Given the description of an element on the screen output the (x, y) to click on. 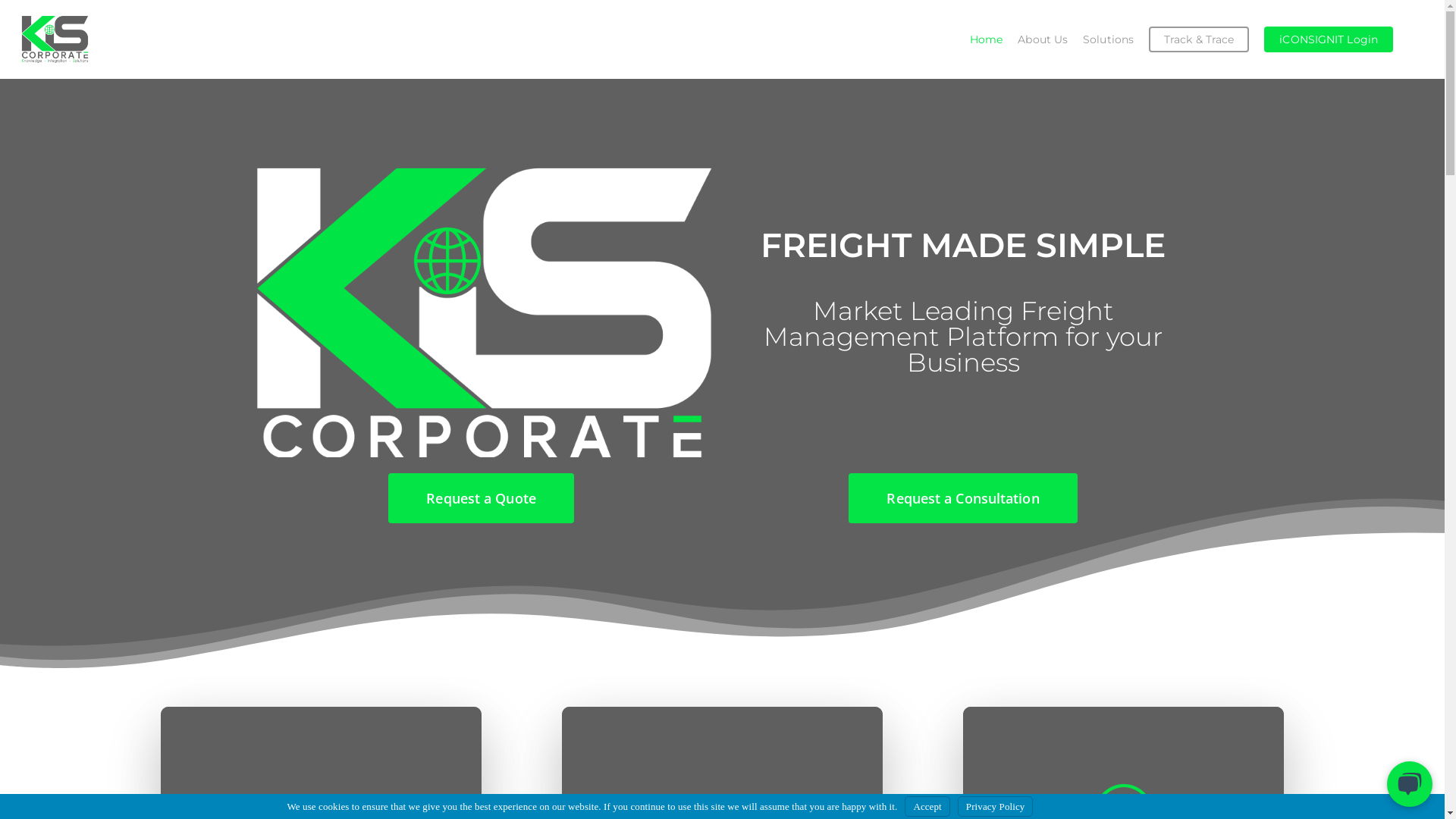
Home Element type: text (986, 39)
Accept Element type: text (926, 806)
iCONSIGNIT Login Element type: text (1328, 39)
Request a Quote Element type: text (481, 498)
Track & Trace Element type: text (1198, 39)
Request a Consultation Element type: text (962, 498)
Solutions Element type: text (1108, 39)
Privacy Policy Element type: text (995, 806)
About Us Element type: text (1042, 39)
